Given the description of an element on the screen output the (x, y) to click on. 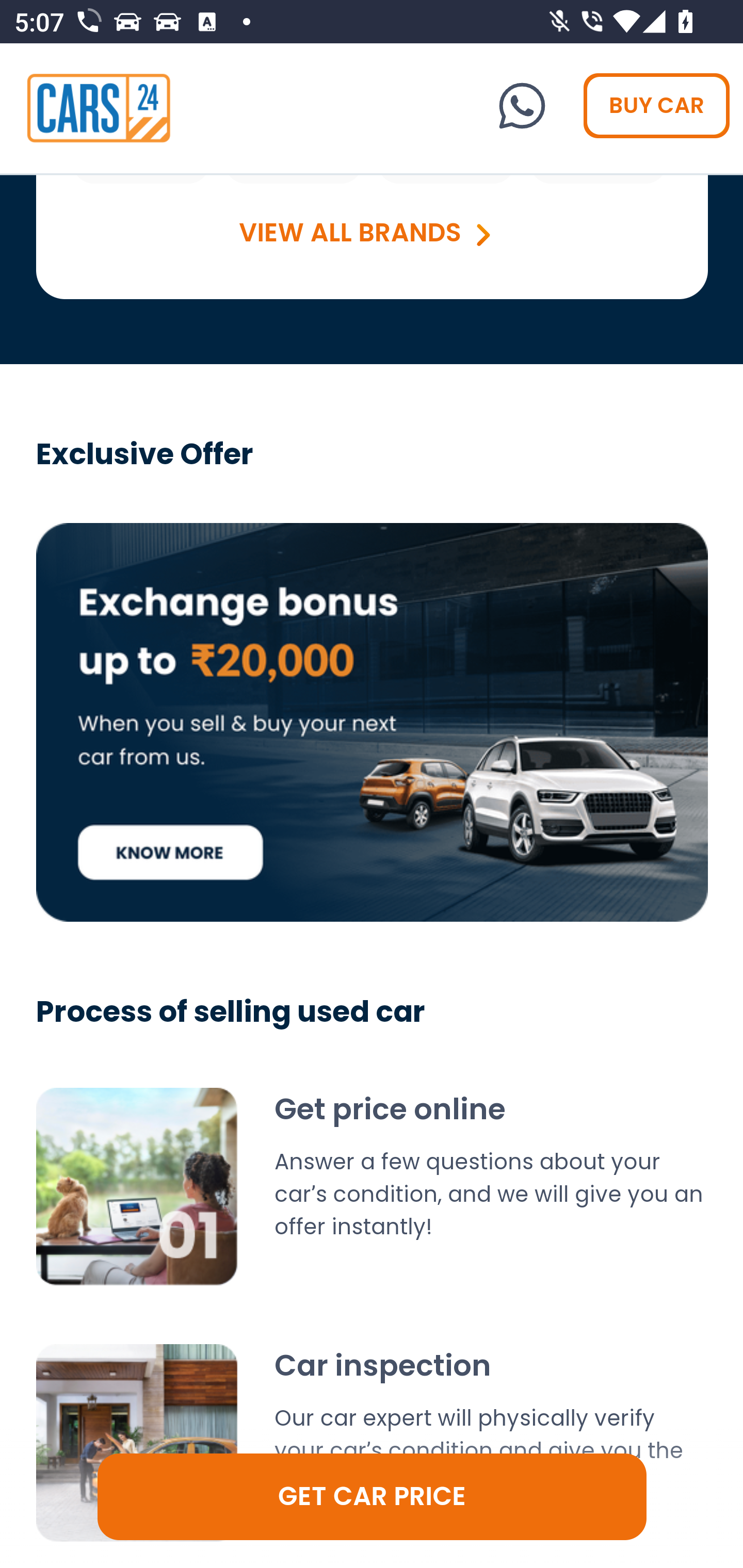
BUY CAR (657, 104)
GET CAR PRICE (372, 1497)
